Given the description of an element on the screen output the (x, y) to click on. 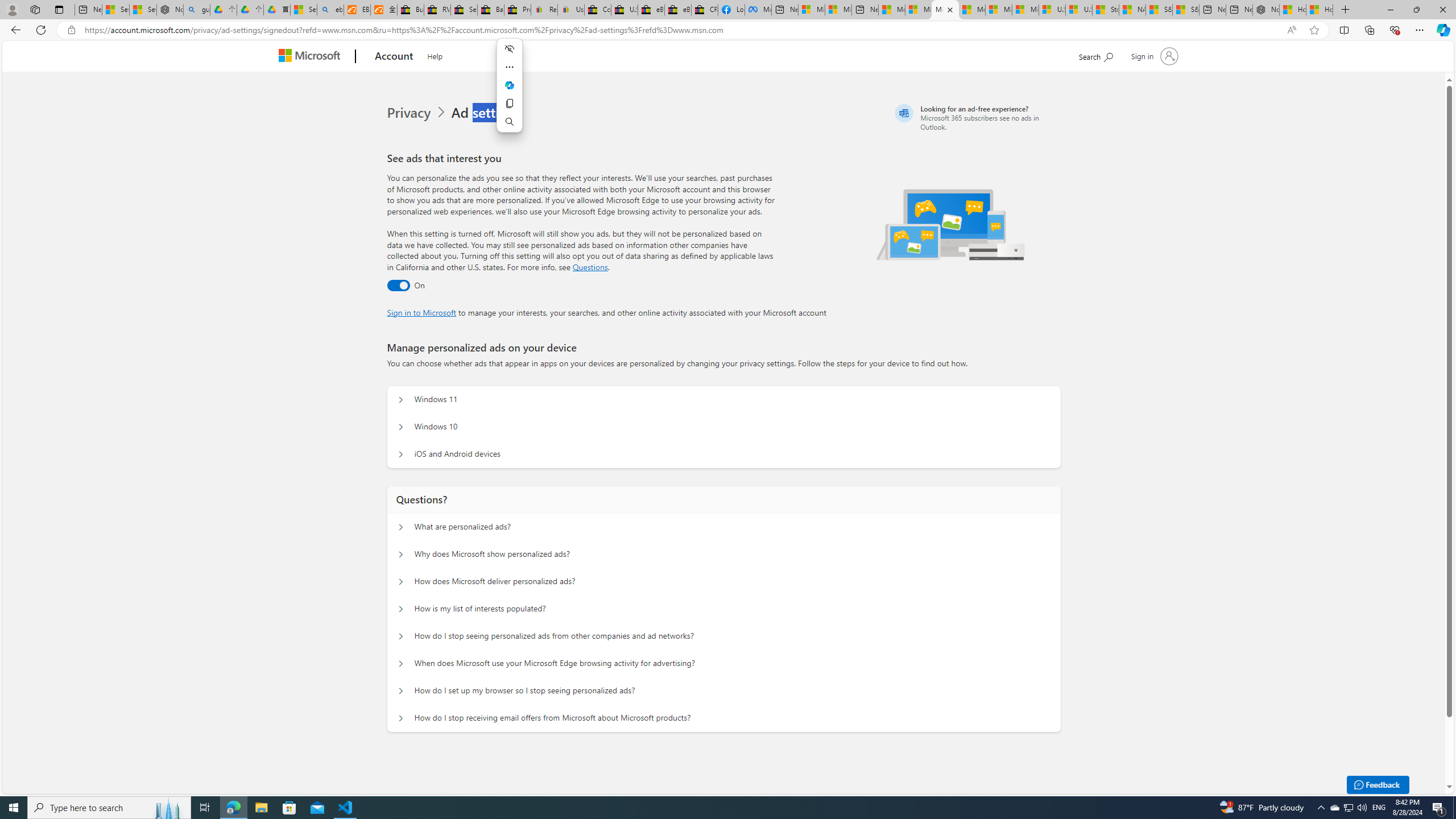
Log into Facebook (731, 9)
eBay Inc. Reports Third Quarter 2023 Results (677, 9)
Questions? How does Microsoft deliver personalized ads? (401, 581)
User Privacy Notice | eBay (571, 9)
Mini menu on text selection (509, 91)
Microsoft account | Privacy (945, 9)
Ad settings (488, 112)
Questions? Why does Microsoft show personalized ads? (401, 554)
Manage personalized ads on your device Windows 11 (401, 400)
Meta Store (757, 9)
